Given the description of an element on the screen output the (x, y) to click on. 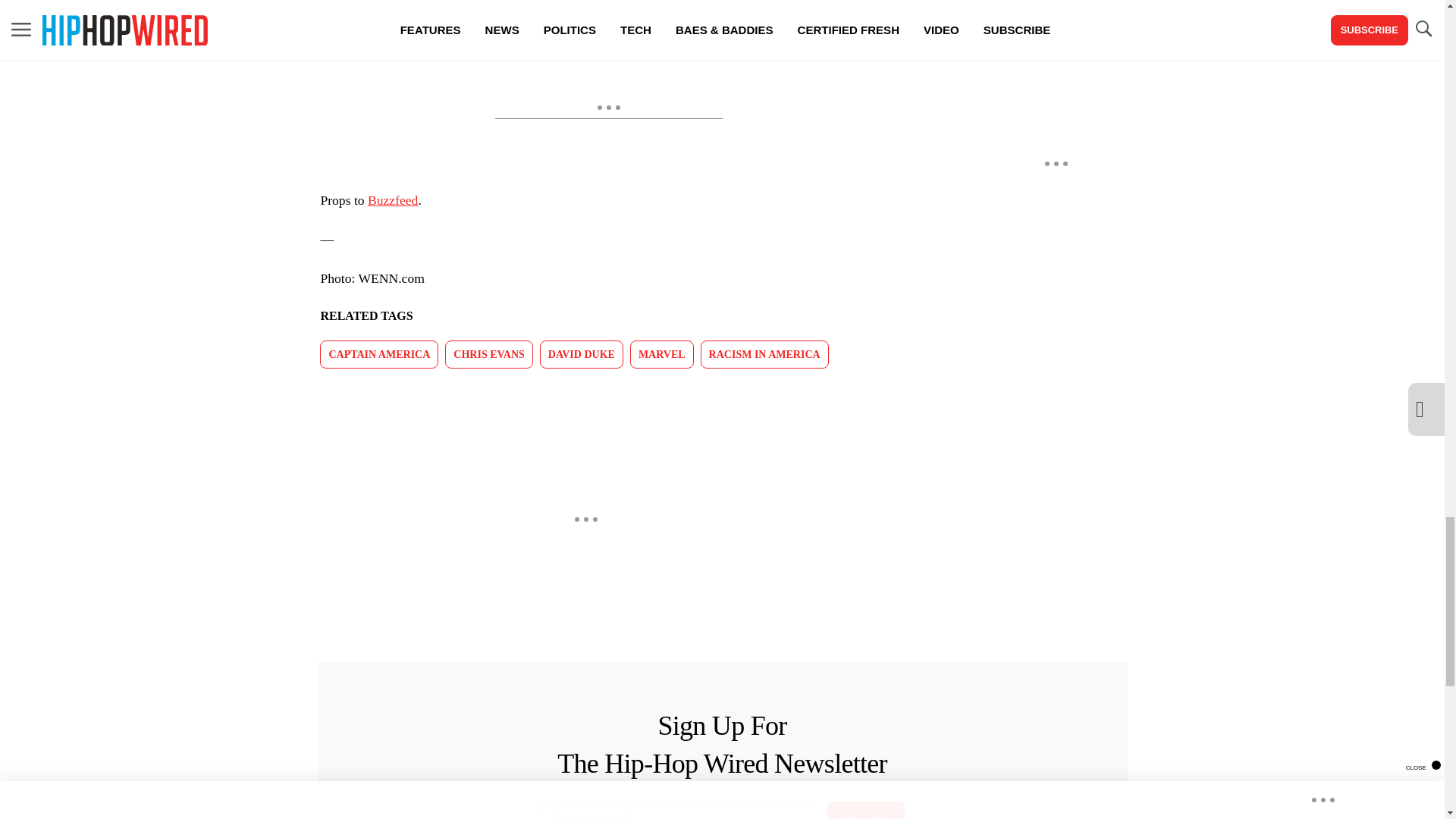
Subscribe (865, 810)
RACISM IN AMERICA (764, 354)
MARVEL (662, 354)
DAVID DUKE (581, 354)
CAPTAIN AMERICA (379, 354)
CHRIS EVANS (488, 354)
Buzzfeed (392, 200)
